Given the description of an element on the screen output the (x, y) to click on. 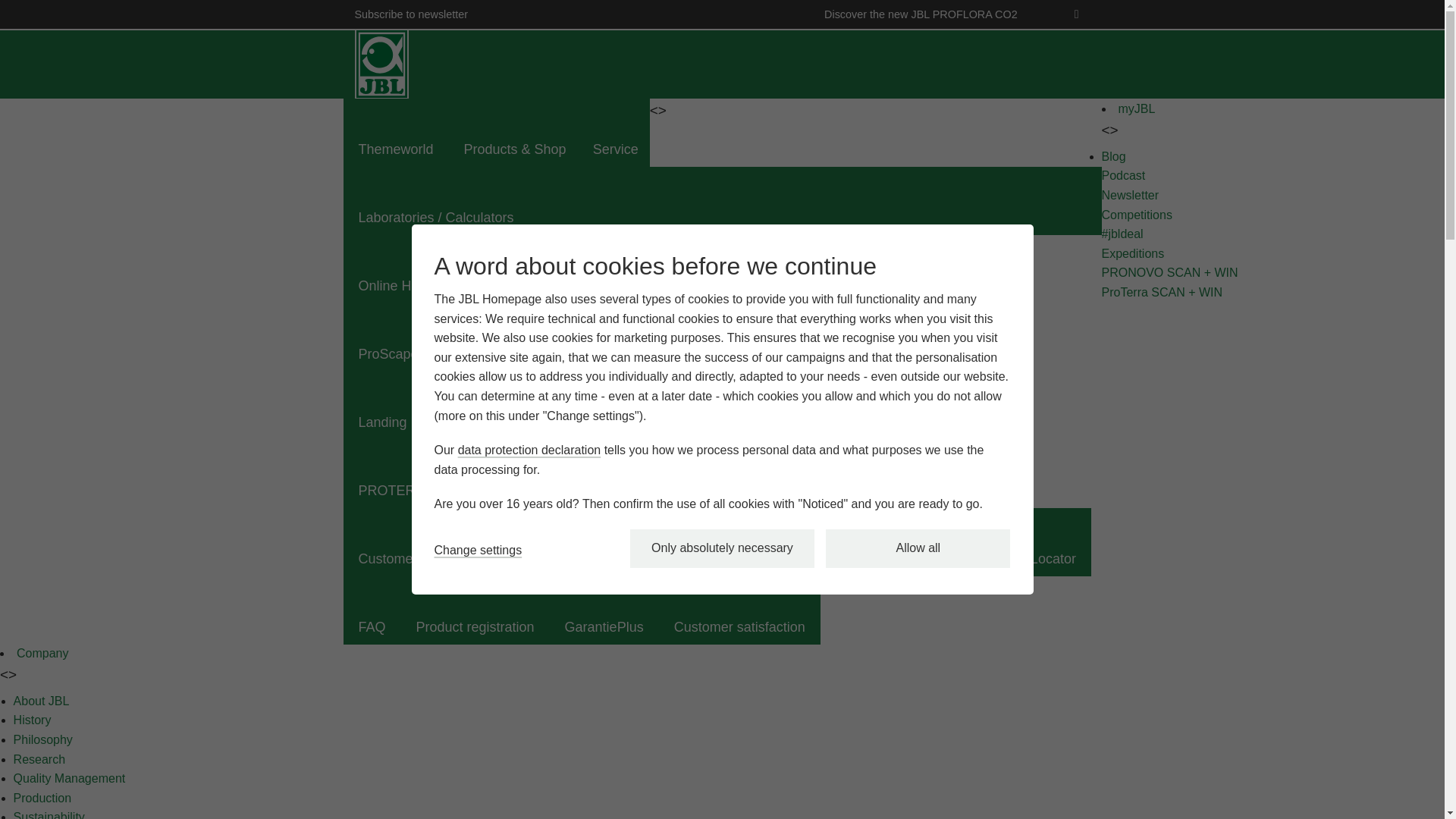
Subscribe to newsletter (423, 14)
Discover the new JBL PROFLORA CO2 (932, 14)
